Given the description of an element on the screen output the (x, y) to click on. 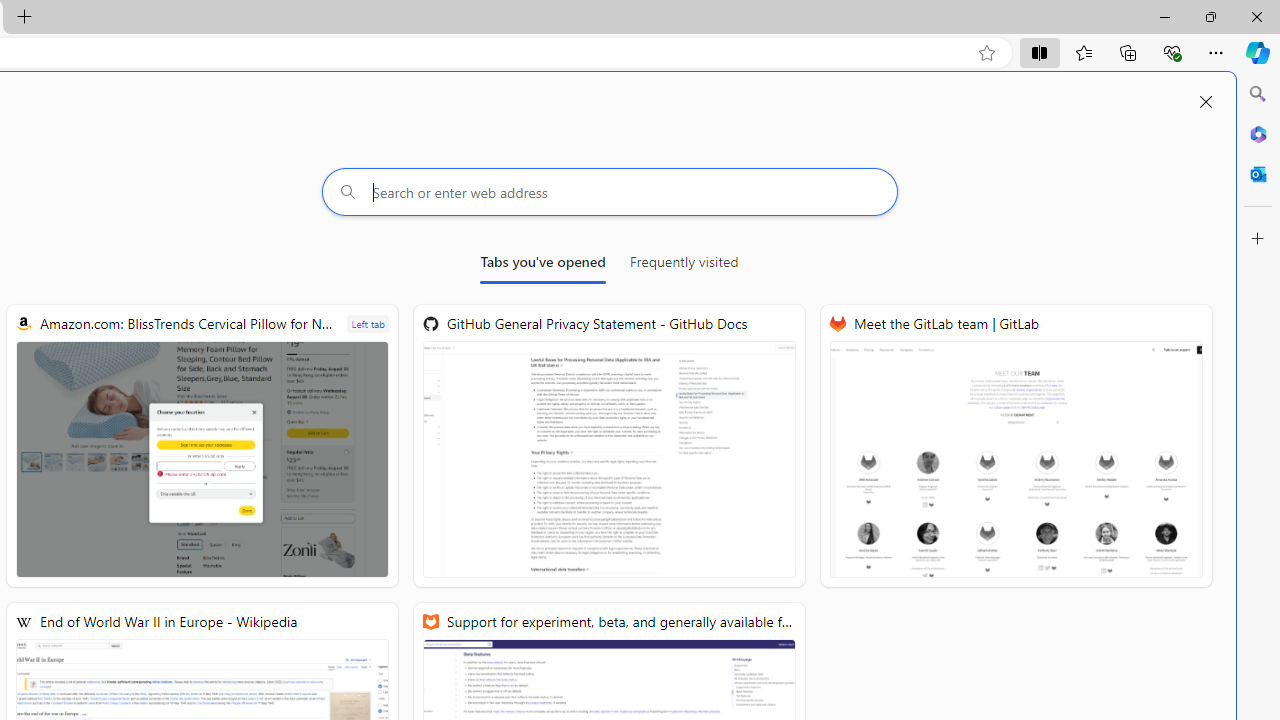
Search or enter web address (609, 191)
Meet the GitLab team | GitLab (1016, 446)
GitHub General Privacy Statement - GitHub Docs (609, 446)
Close split screen (1205, 102)
Frequently visited (683, 265)
